Given the description of an element on the screen output the (x, y) to click on. 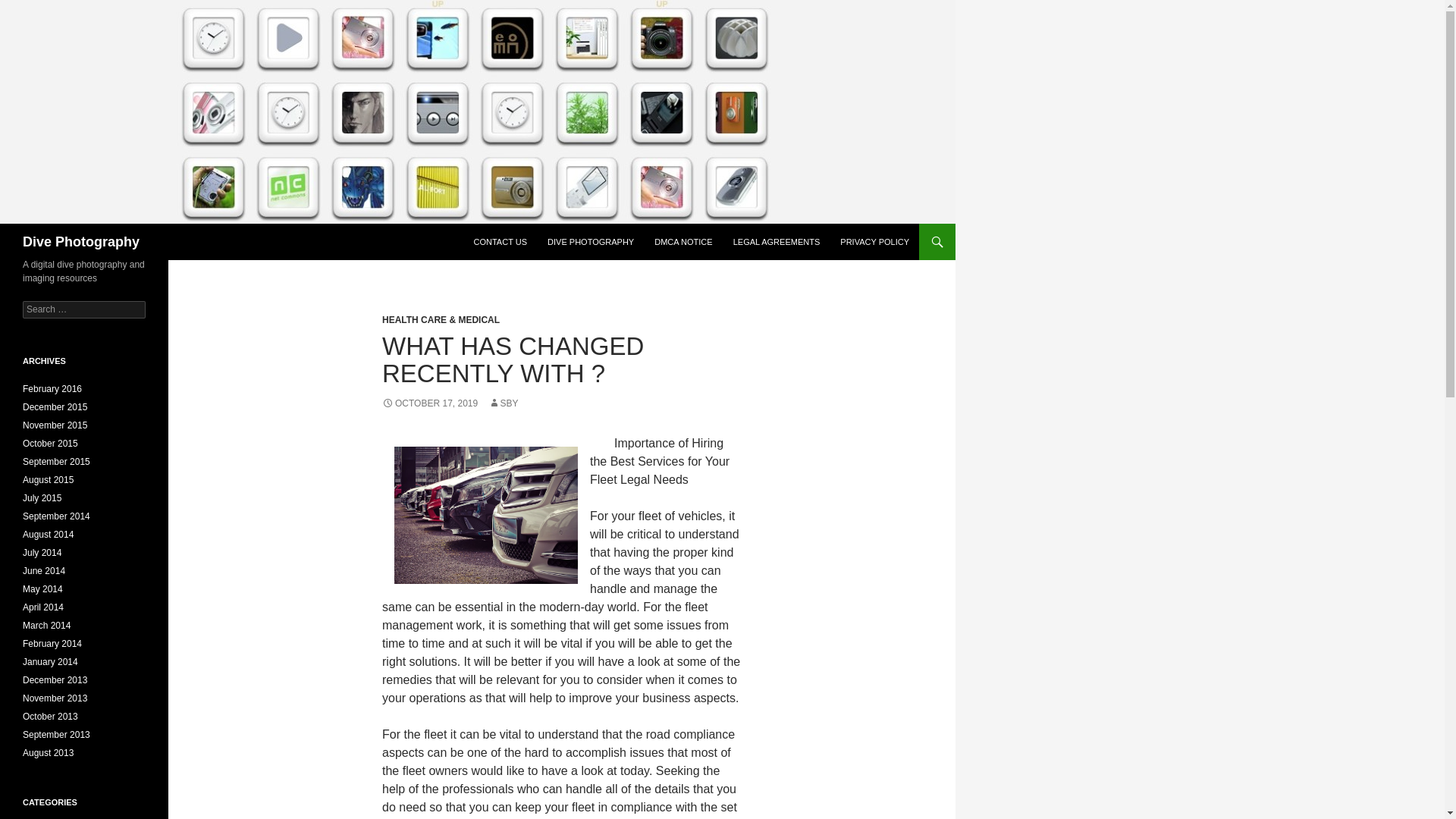
December 2013 (55, 679)
September 2014 (56, 516)
PRIVACY POLICY (874, 241)
September 2015 (56, 461)
February 2014 (52, 643)
October 2013 (50, 716)
February 2016 (52, 388)
August 2014 (48, 534)
Search (30, 8)
September 2013 (56, 734)
December 2015 (55, 407)
November 2015 (55, 425)
SBY (502, 403)
